Given the description of an element on the screen output the (x, y) to click on. 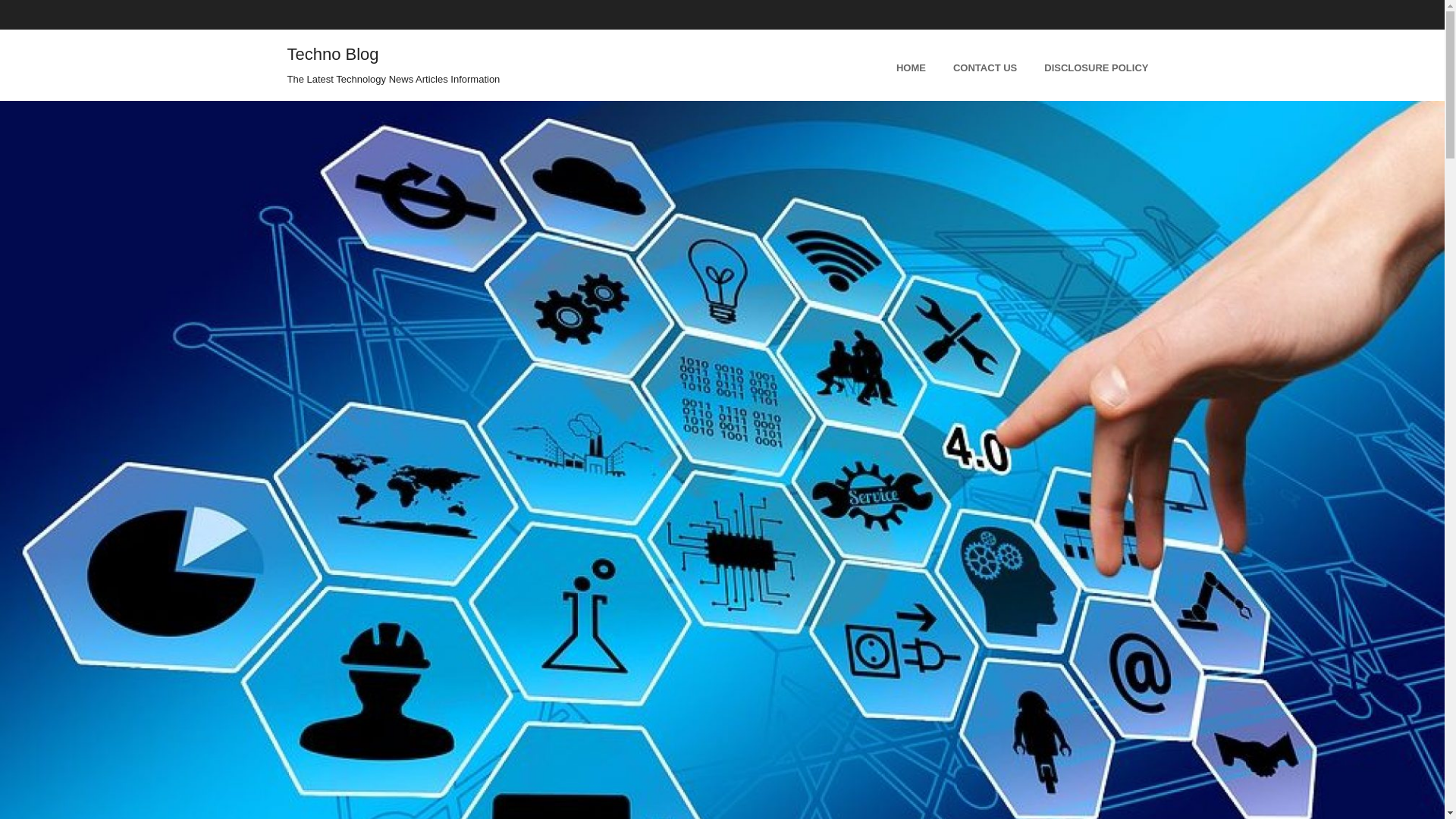
Techno Blog (332, 54)
CONTACT US (984, 64)
SKIP TO CONTENT (604, 64)
DISCLOSURE POLICY (1095, 64)
Techno Blog (332, 54)
Skip to content (604, 64)
